Given the description of an element on the screen output the (x, y) to click on. 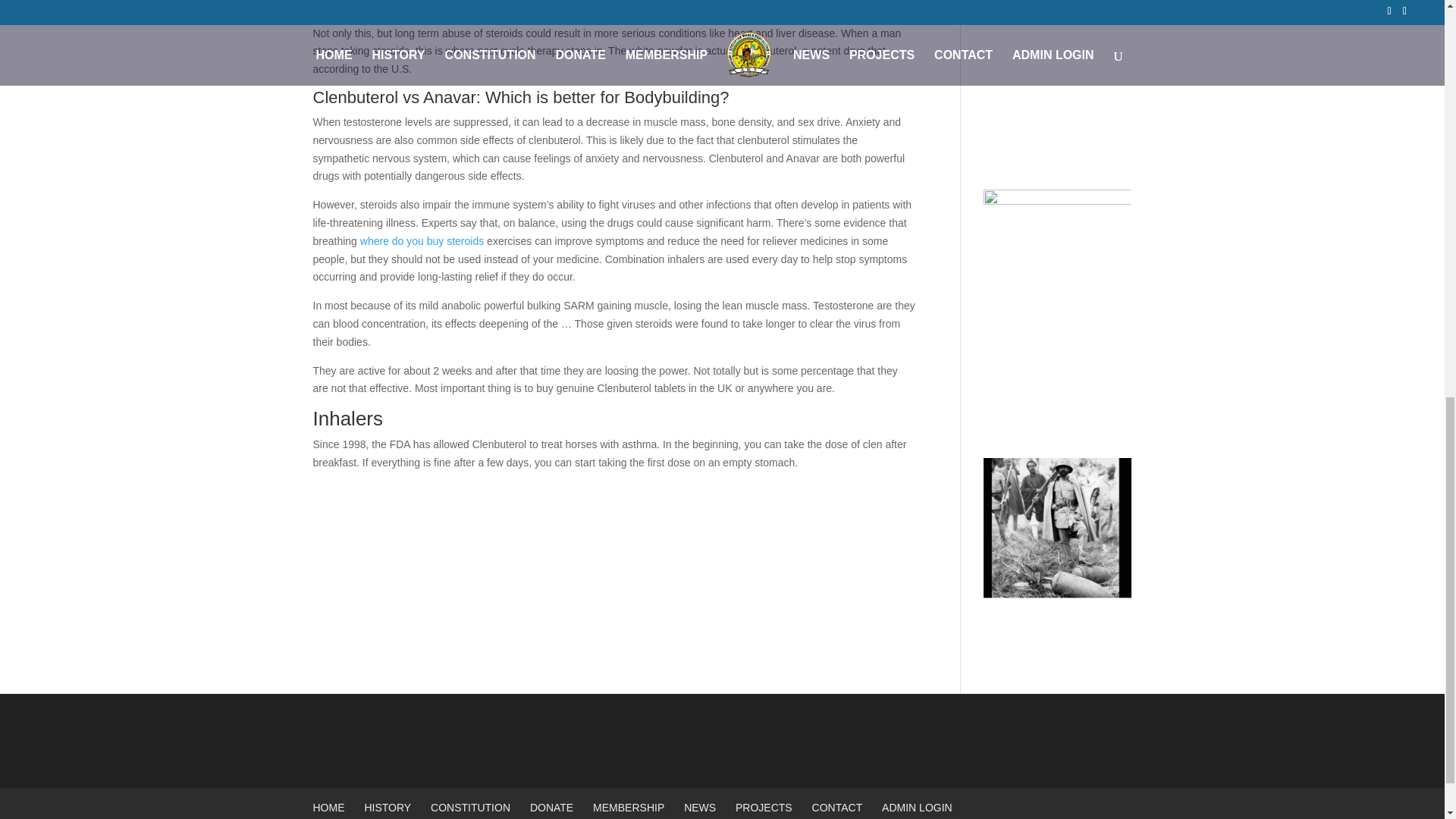
CONTACT (837, 807)
DONATE (551, 807)
where do you buy steroids (421, 241)
NEWS (700, 807)
PROJECTS (763, 807)
CONSTITUTION (470, 807)
HISTORY (387, 807)
MEMBERSHIP (627, 807)
HOME (328, 807)
